Given the description of an element on the screen output the (x, y) to click on. 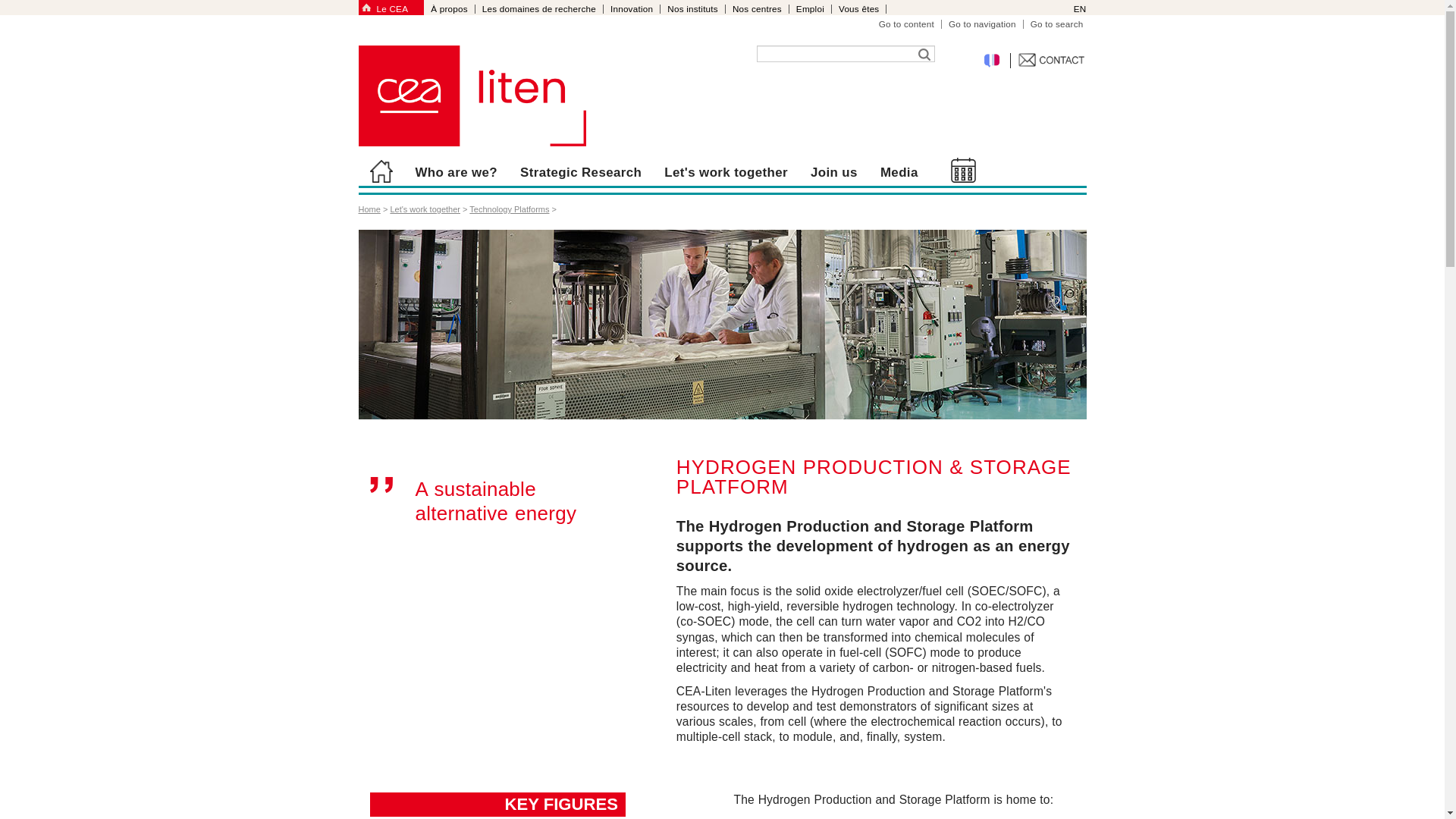
Les domaines de recherche (540, 8)
Search (924, 54)
Nos instituts (693, 8)
Le CEA (397, 8)
Innovation (632, 8)
